Given the description of an element on the screen output the (x, y) to click on. 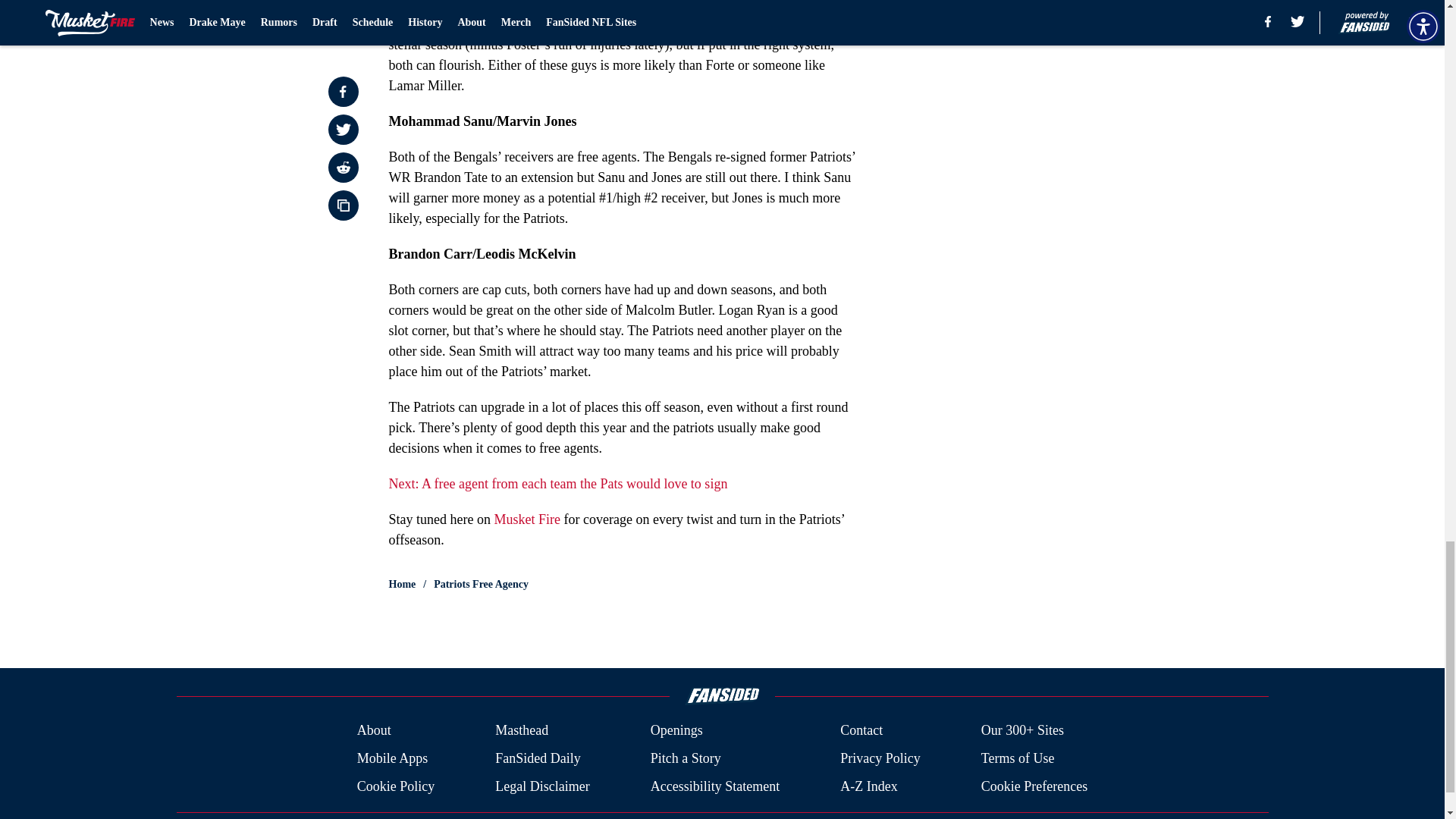
Home (401, 584)
Cookie Policy (395, 786)
Musket Fire (526, 519)
Contact (861, 730)
Legal Disclaimer (542, 786)
Openings (676, 730)
Privacy Policy (880, 758)
FanSided Daily (537, 758)
Pitch a Story (685, 758)
About (373, 730)
Patriots Free Agency (480, 584)
Masthead (521, 730)
Mobile Apps (392, 758)
Terms of Use (1017, 758)
